Given the description of an element on the screen output the (x, y) to click on. 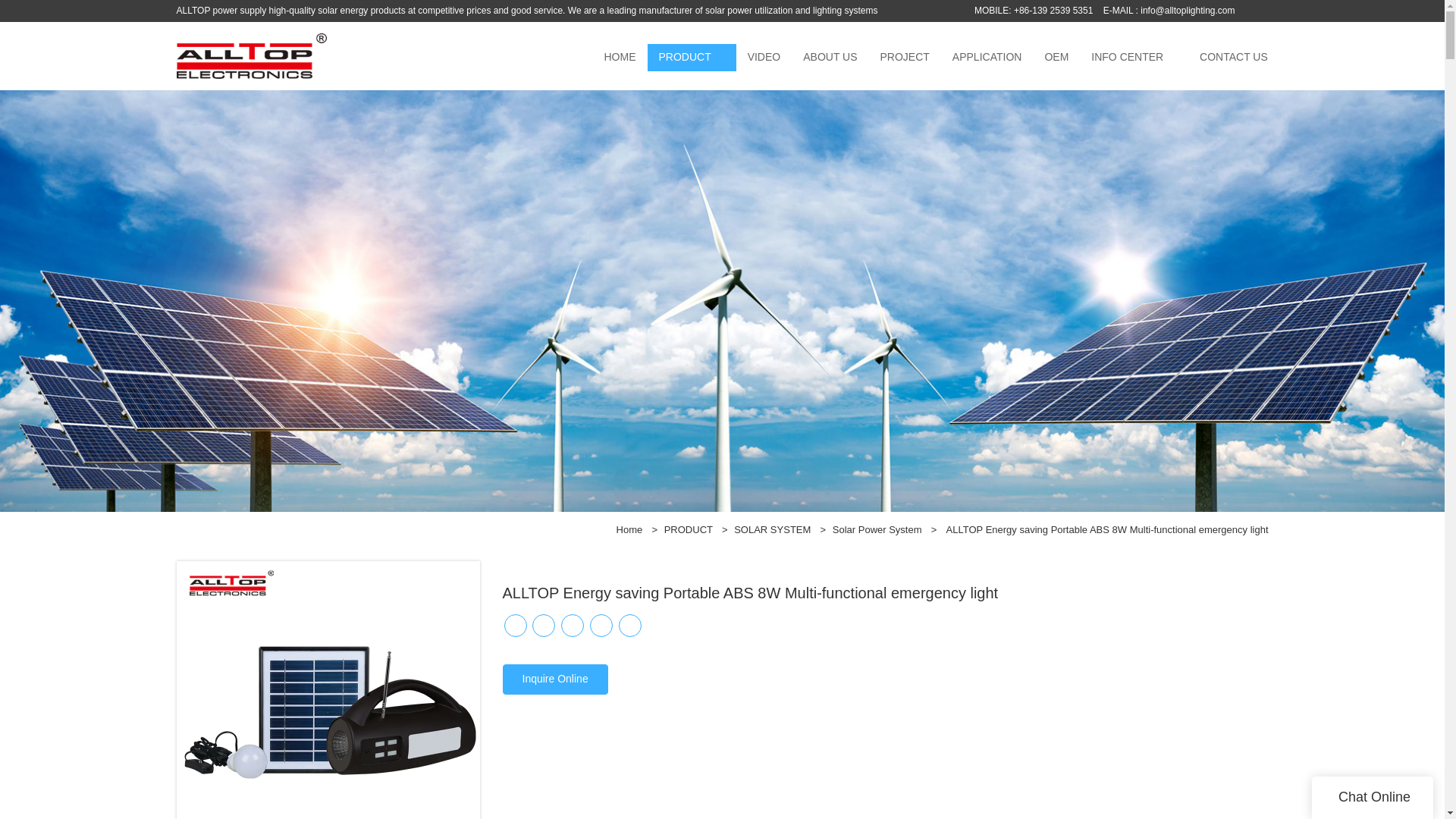
CONTACT US (1233, 57)
ABOUT US (829, 57)
Solar Power System (876, 529)
PROJECT (904, 57)
Home (629, 529)
APPLICATION (986, 57)
OEM (1056, 57)
PRODUCT (684, 57)
INFO CENTER (1127, 57)
PRODUCT (688, 529)
